Given the description of an element on the screen output the (x, y) to click on. 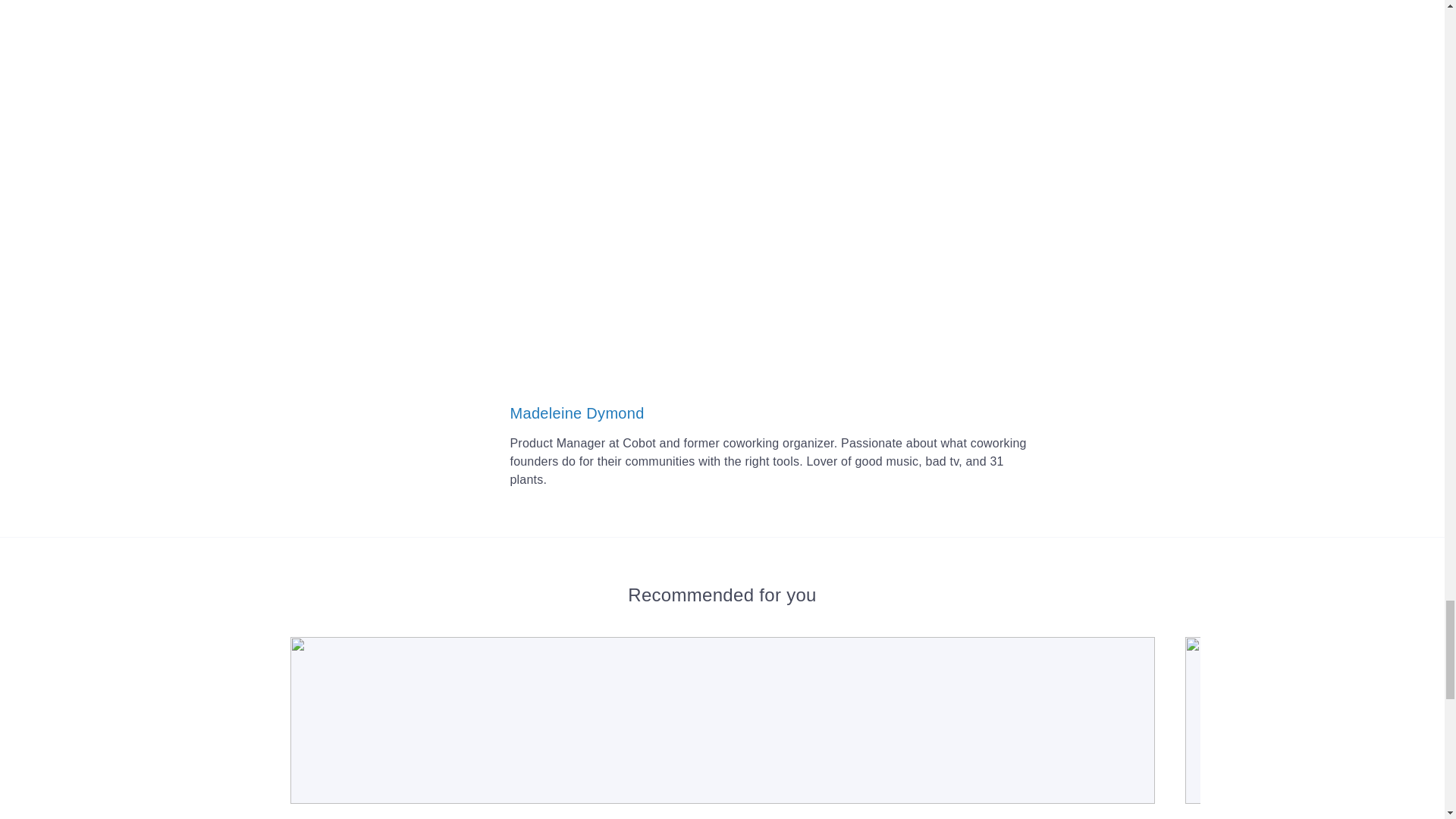
Madeleine Dymond (576, 412)
